Given the description of an element on the screen output the (x, y) to click on. 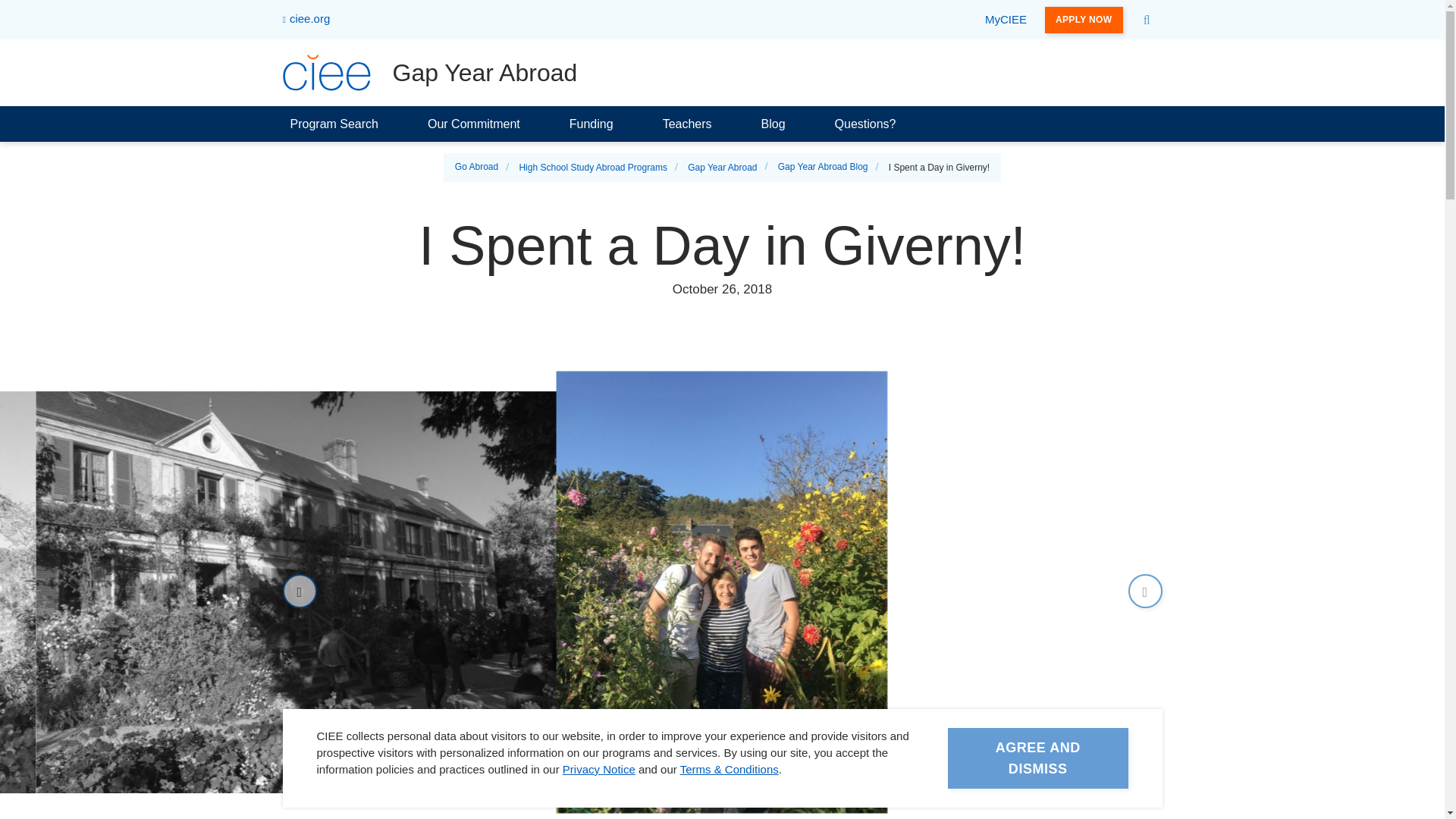
APPLY NOW (1083, 18)
Teachers (687, 123)
MyCIEE (1005, 19)
ciee.org (306, 19)
AGREE AND DISMISS (1037, 813)
Gap Year Abroad (429, 72)
Questions? (865, 123)
Privacy Notice (598, 768)
Funding (591, 123)
Blog (773, 123)
Our Commitment (473, 123)
Program Search (333, 123)
